Given the description of an element on the screen output the (x, y) to click on. 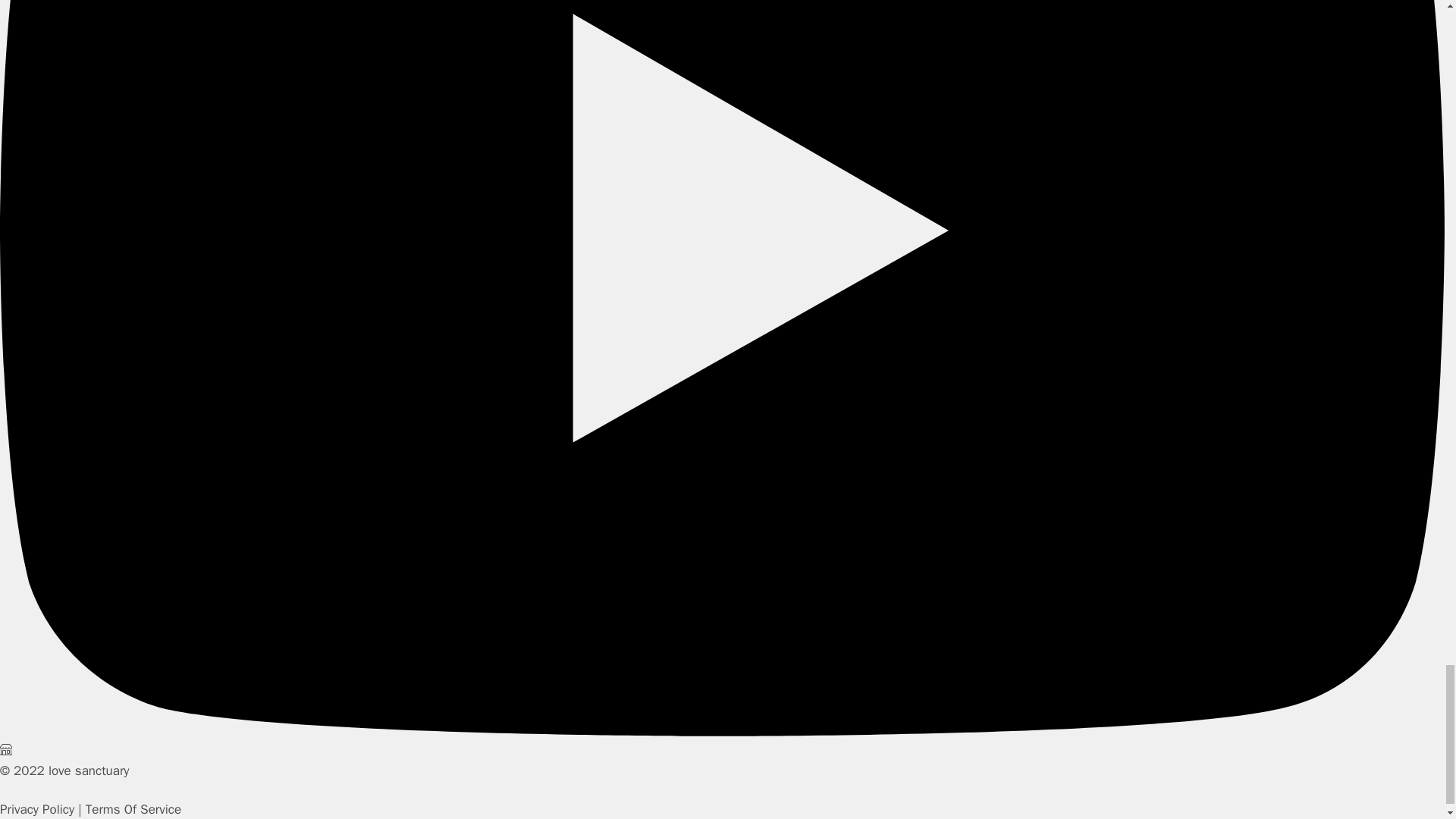
Terms Of Service (132, 809)
Privacy Policy (37, 809)
